Given the description of an element on the screen output the (x, y) to click on. 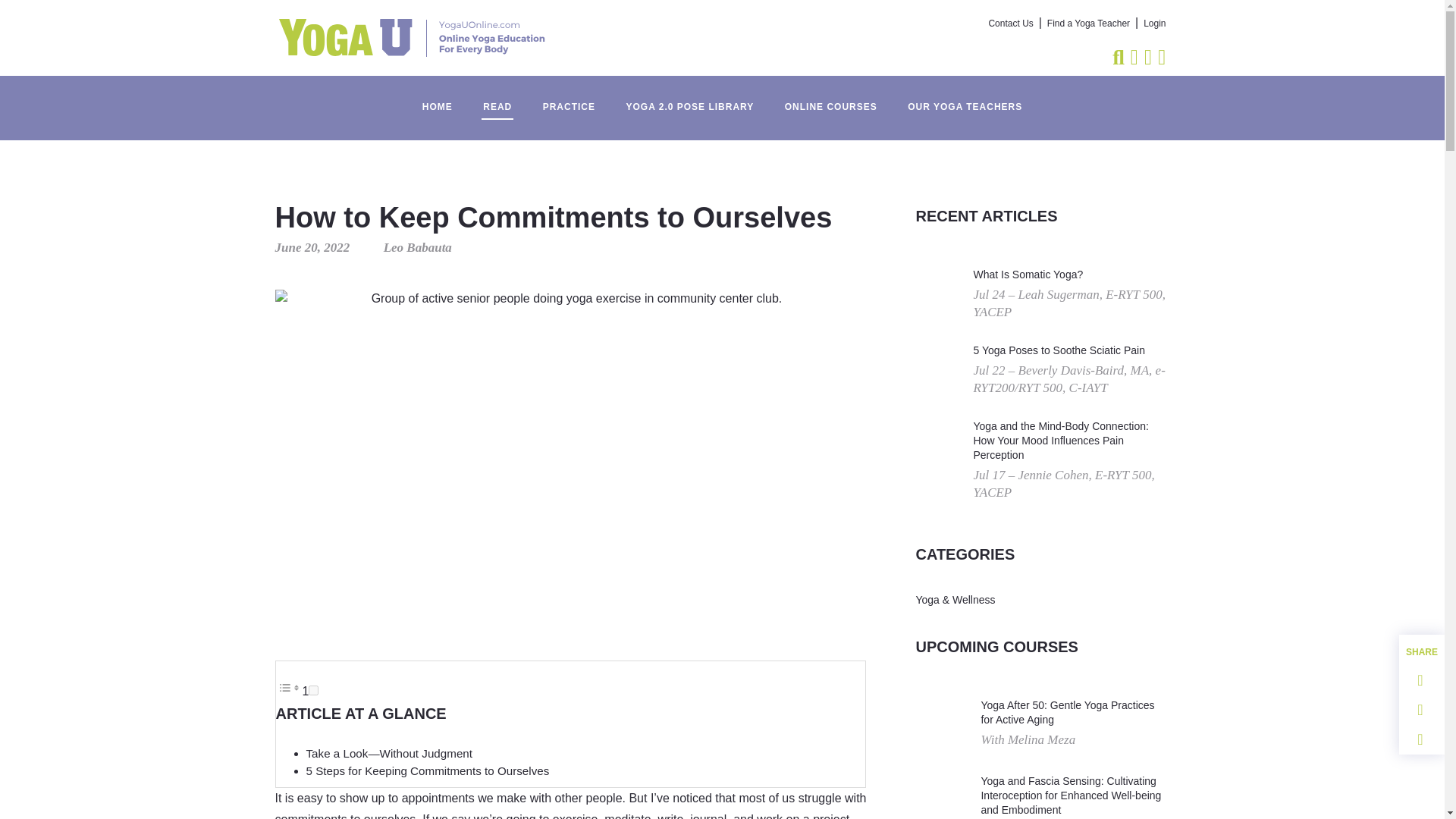
5 Steps for Keeping Commitments to Ourselves (427, 770)
READ (496, 99)
OUR YOGA TEACHERS (964, 99)
YOGA 2.0 POSE LIBRARY (689, 99)
5 Steps for Keeping Commitments to Ourselves (427, 770)
on (313, 690)
HOME (437, 99)
Find a Yoga Teacher (1088, 23)
ONLINE COURSES (831, 99)
PRACTICE (568, 99)
Contact Us (1011, 23)
